Given the description of an element on the screen output the (x, y) to click on. 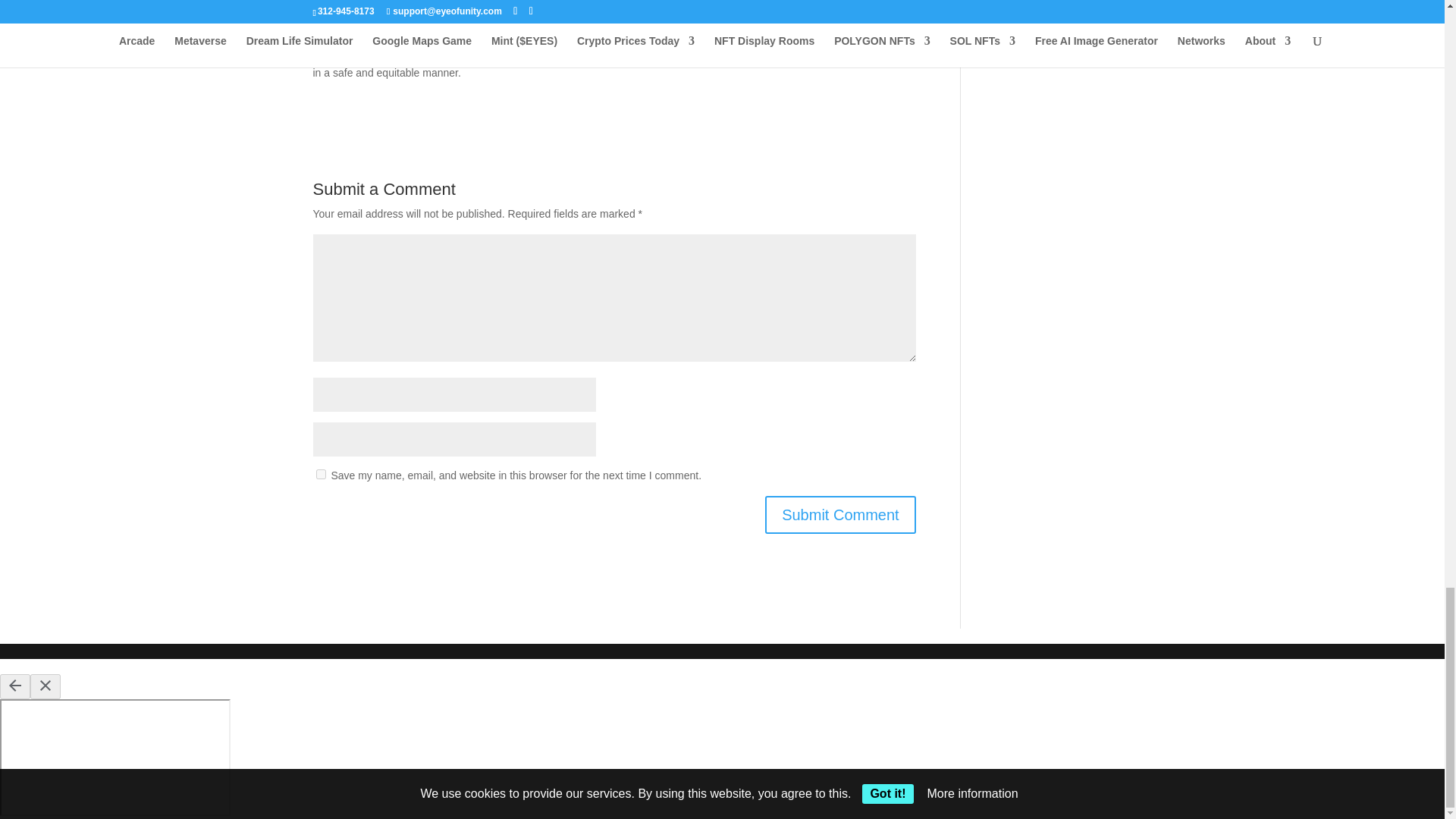
yes (319, 474)
Submit Comment (840, 514)
